Given the description of an element on the screen output the (x, y) to click on. 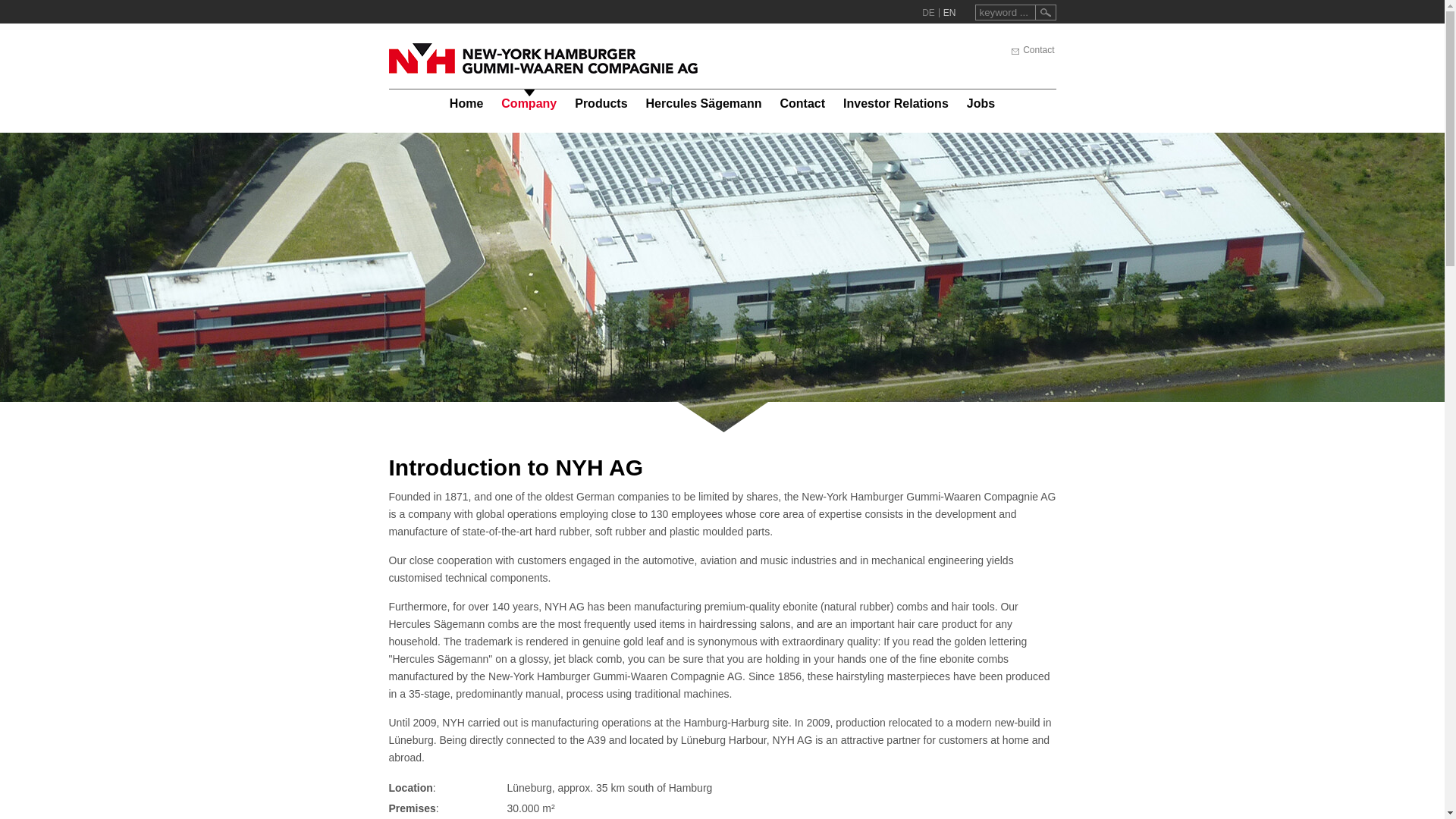
Home (466, 105)
Search (1046, 12)
Products (601, 105)
Diese Seite in Deutsch anzeigen (928, 12)
Company (529, 105)
Jobs (981, 105)
New-York Hamburger Gummi-Waaren Compagnie AG (542, 58)
EN (949, 12)
Contact (1030, 50)
Search (1046, 12)
Investor Relations (896, 105)
Contact (802, 105)
The current page is already displayed in English (949, 12)
DE (928, 12)
keyword ... (1005, 12)
